Given the description of an element on the screen output the (x, y) to click on. 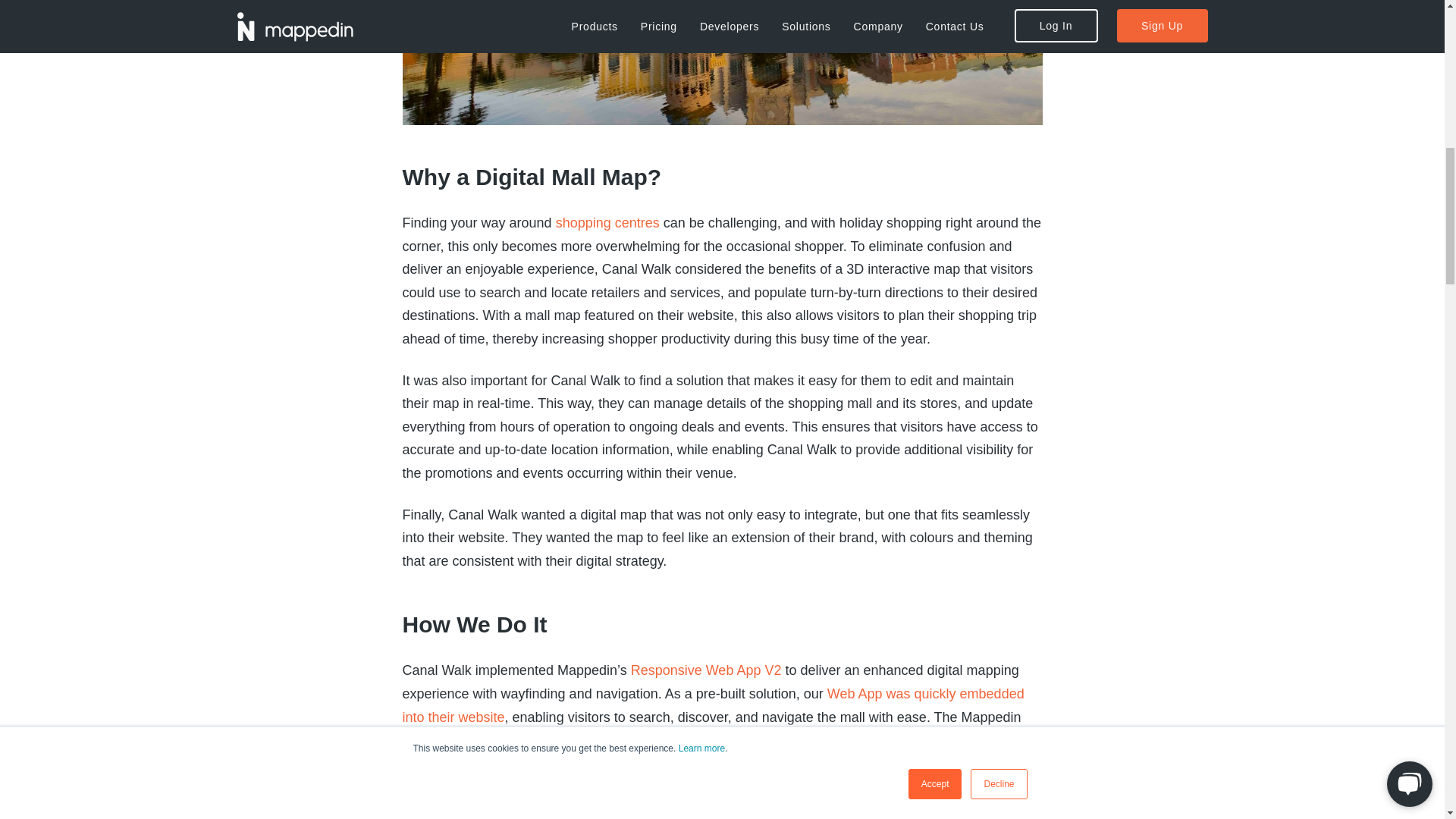
Web App was quickly embedded into their website (712, 705)
Responsive Web App V2 (705, 670)
shopping centres (607, 222)
